Given the description of an element on the screen output the (x, y) to click on. 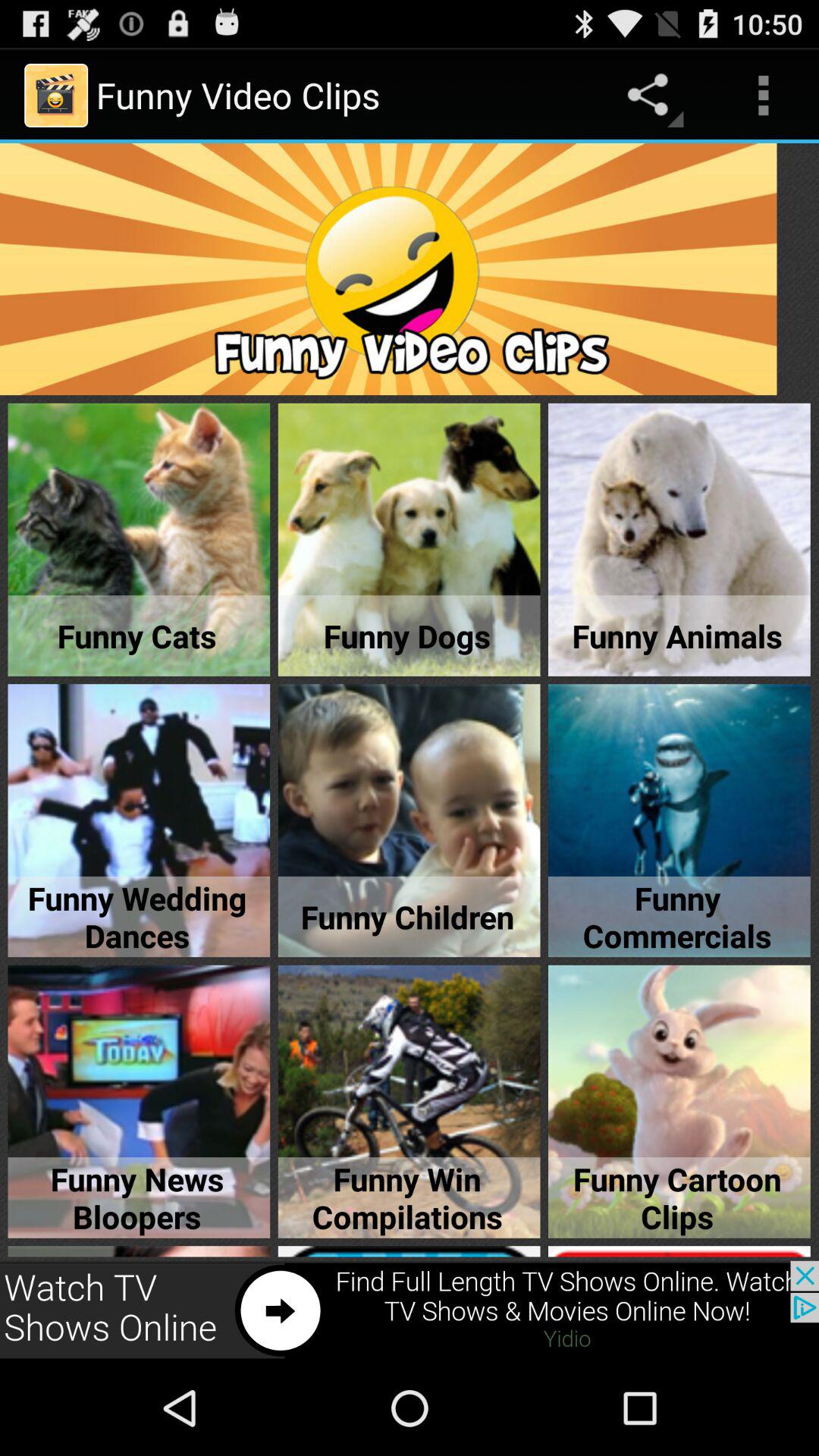
advertisement (409, 1310)
